Given the description of an element on the screen output the (x, y) to click on. 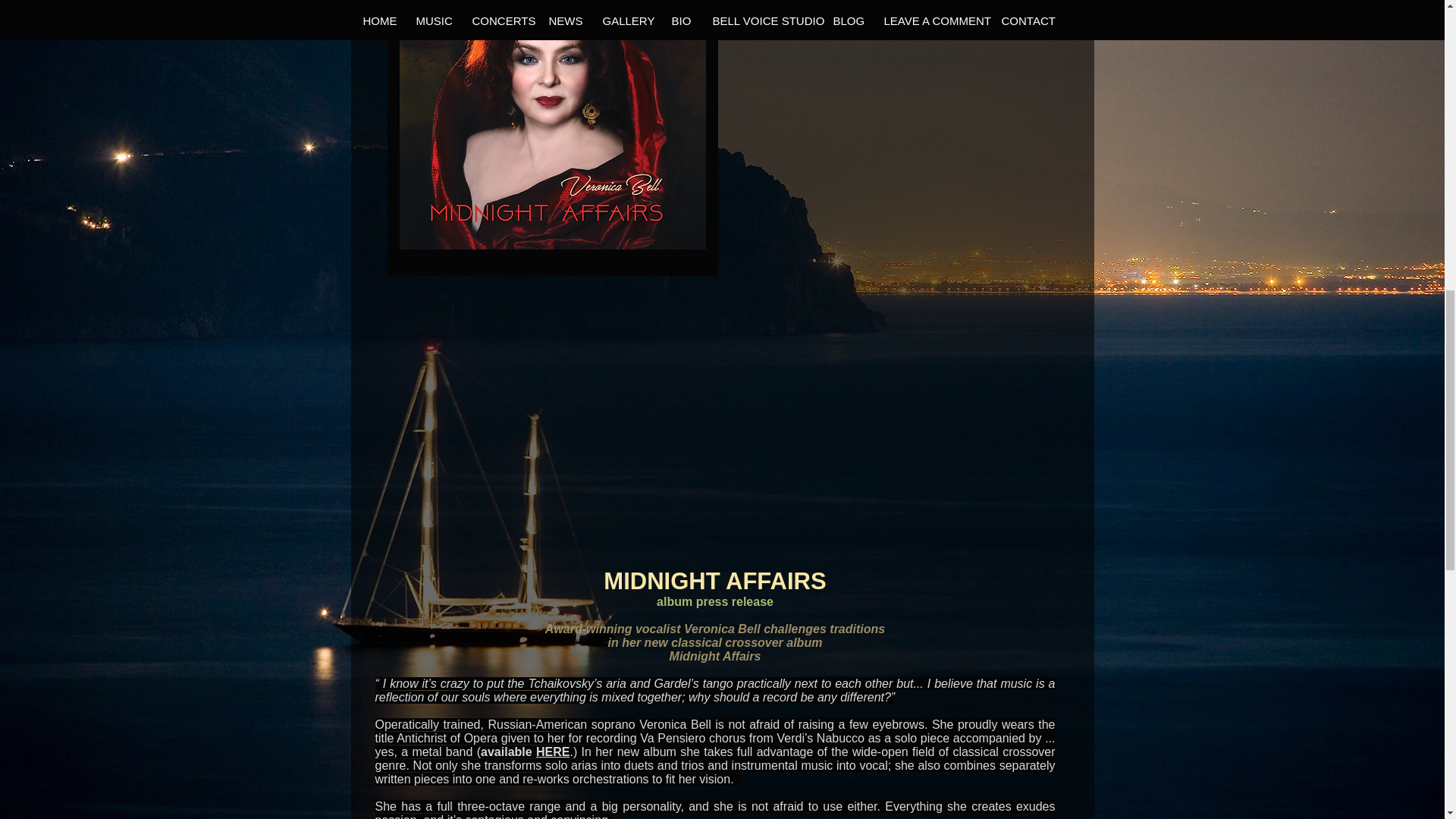
HERE (552, 751)
